Given the description of an element on the screen output the (x, y) to click on. 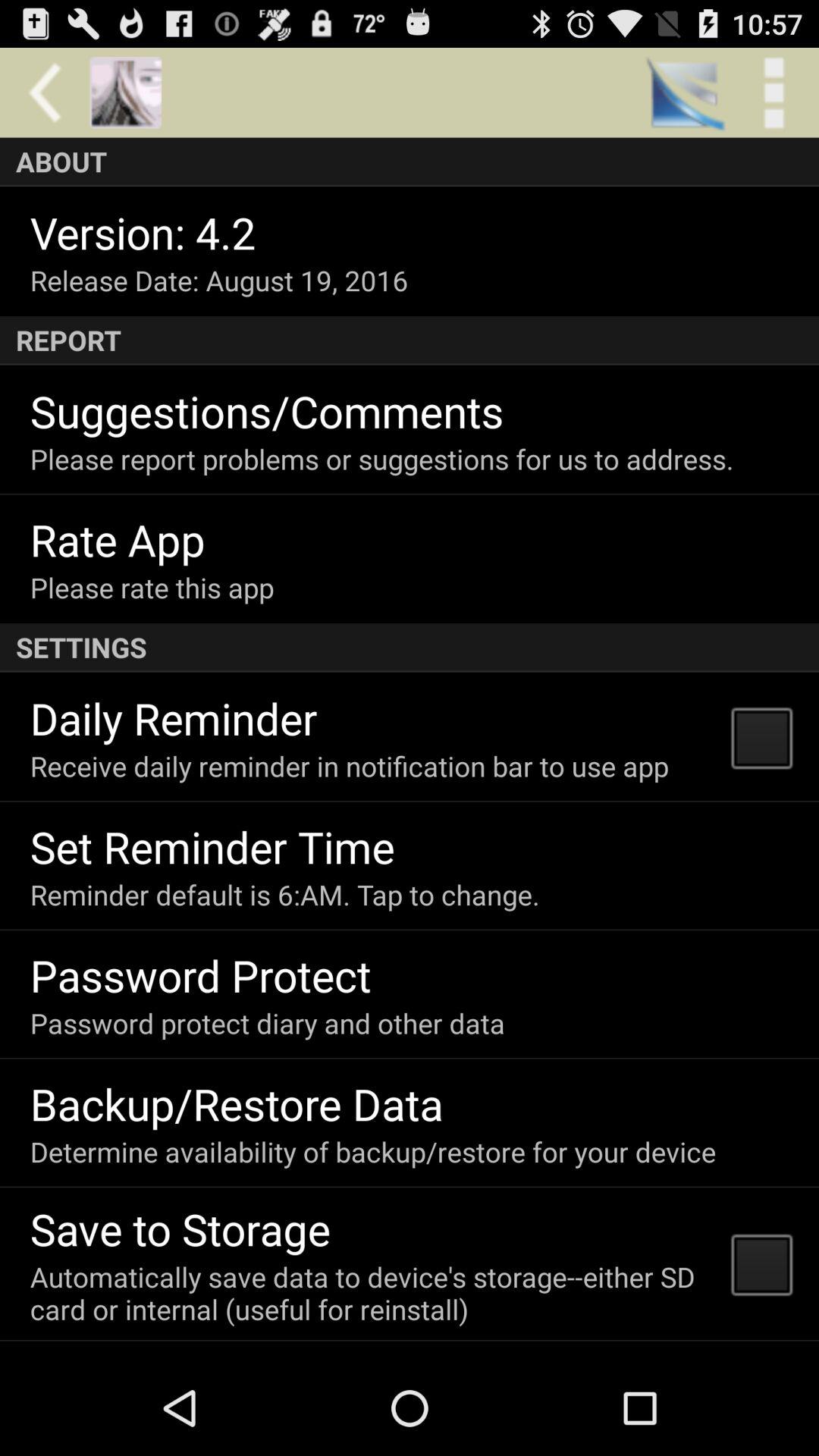
select the item below the rate app (152, 587)
